Given the description of an element on the screen output the (x, y) to click on. 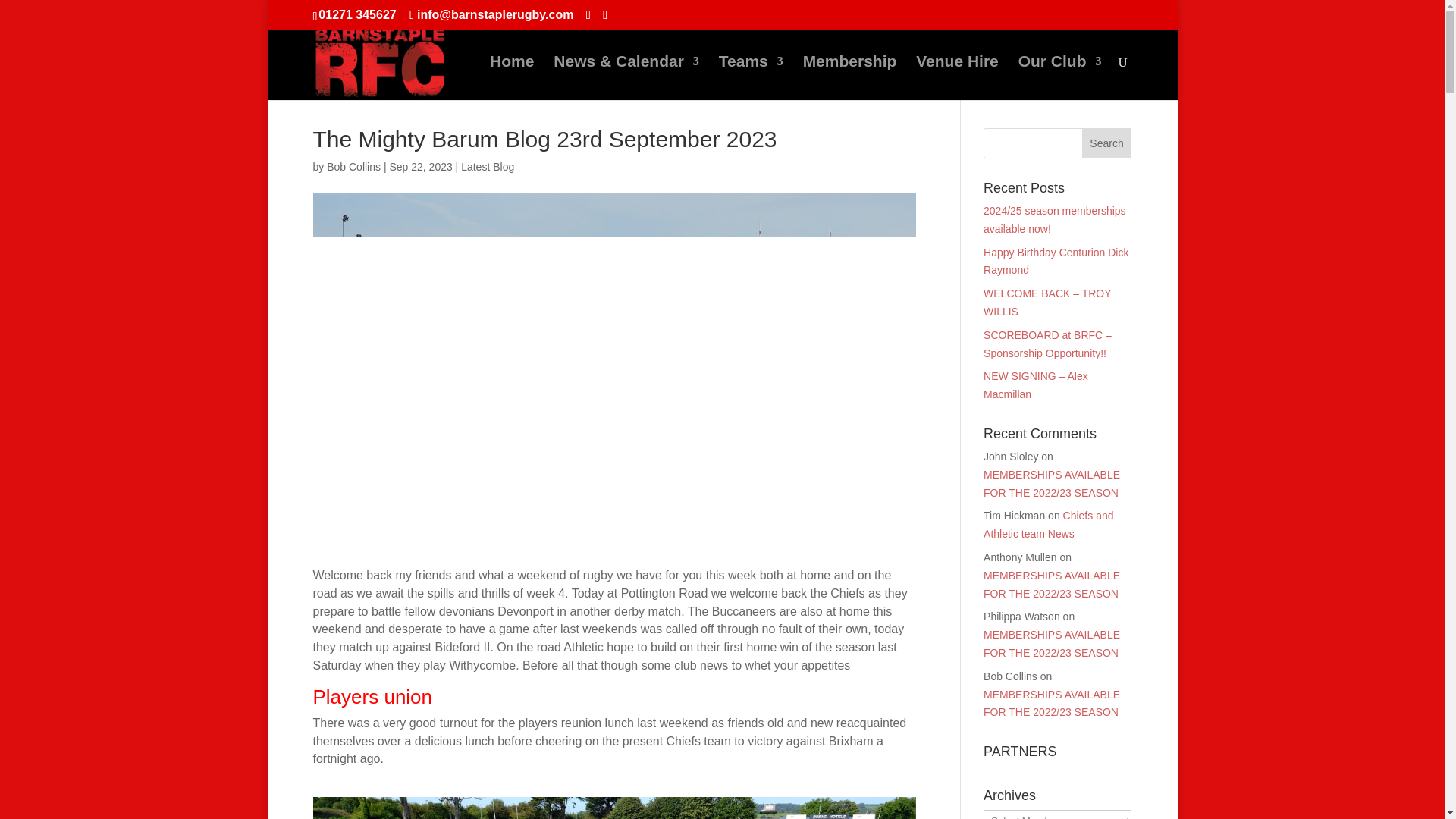
Posts by Bob Collins (353, 166)
Search (1106, 142)
DSCF7594 (614, 807)
Membership (849, 77)
Our Club (1059, 77)
Venue Hire (956, 77)
Home (511, 77)
Teams (751, 77)
